Given the description of an element on the screen output the (x, y) to click on. 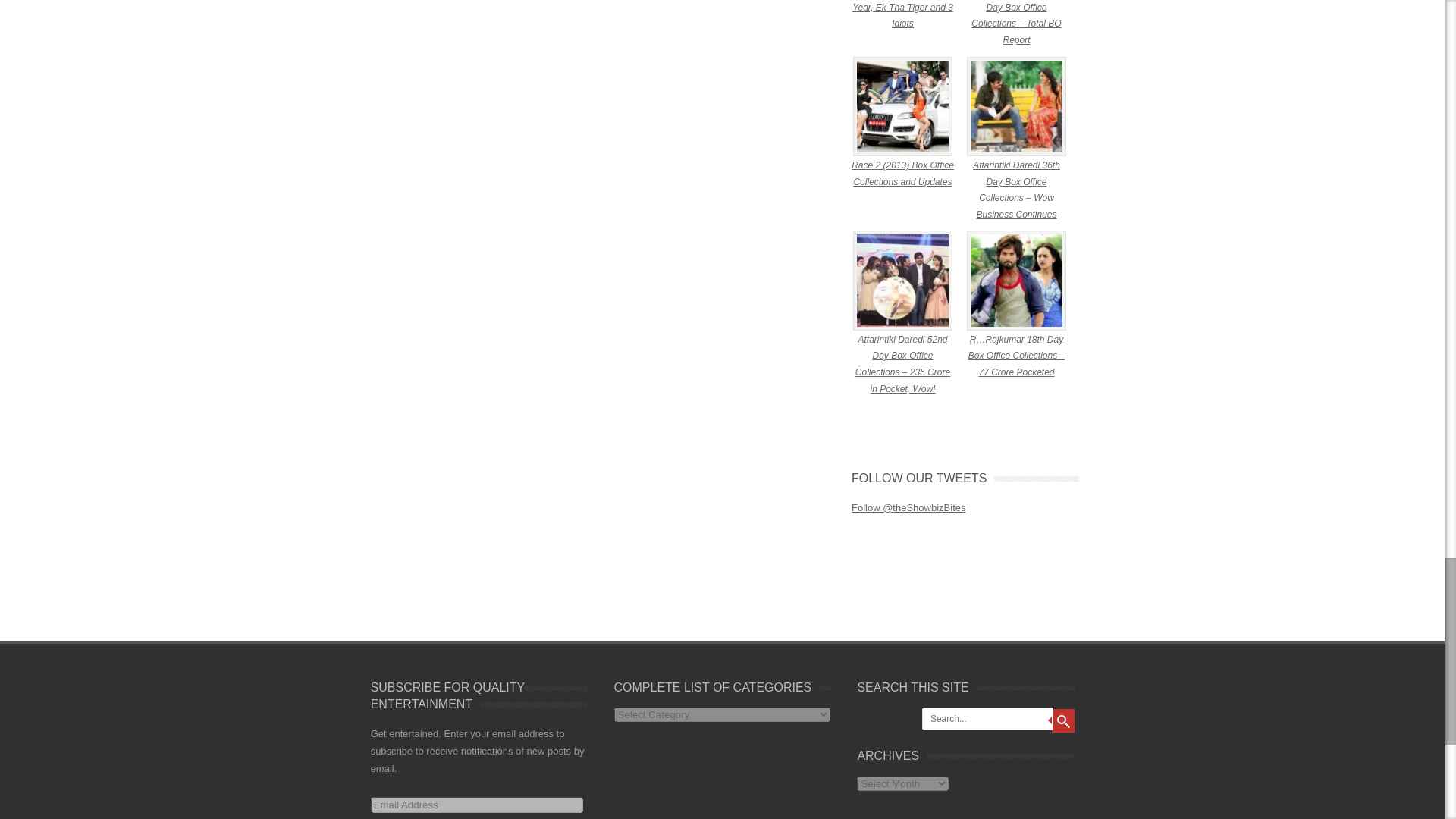
Search (1062, 720)
